Given the description of an element on the screen output the (x, y) to click on. 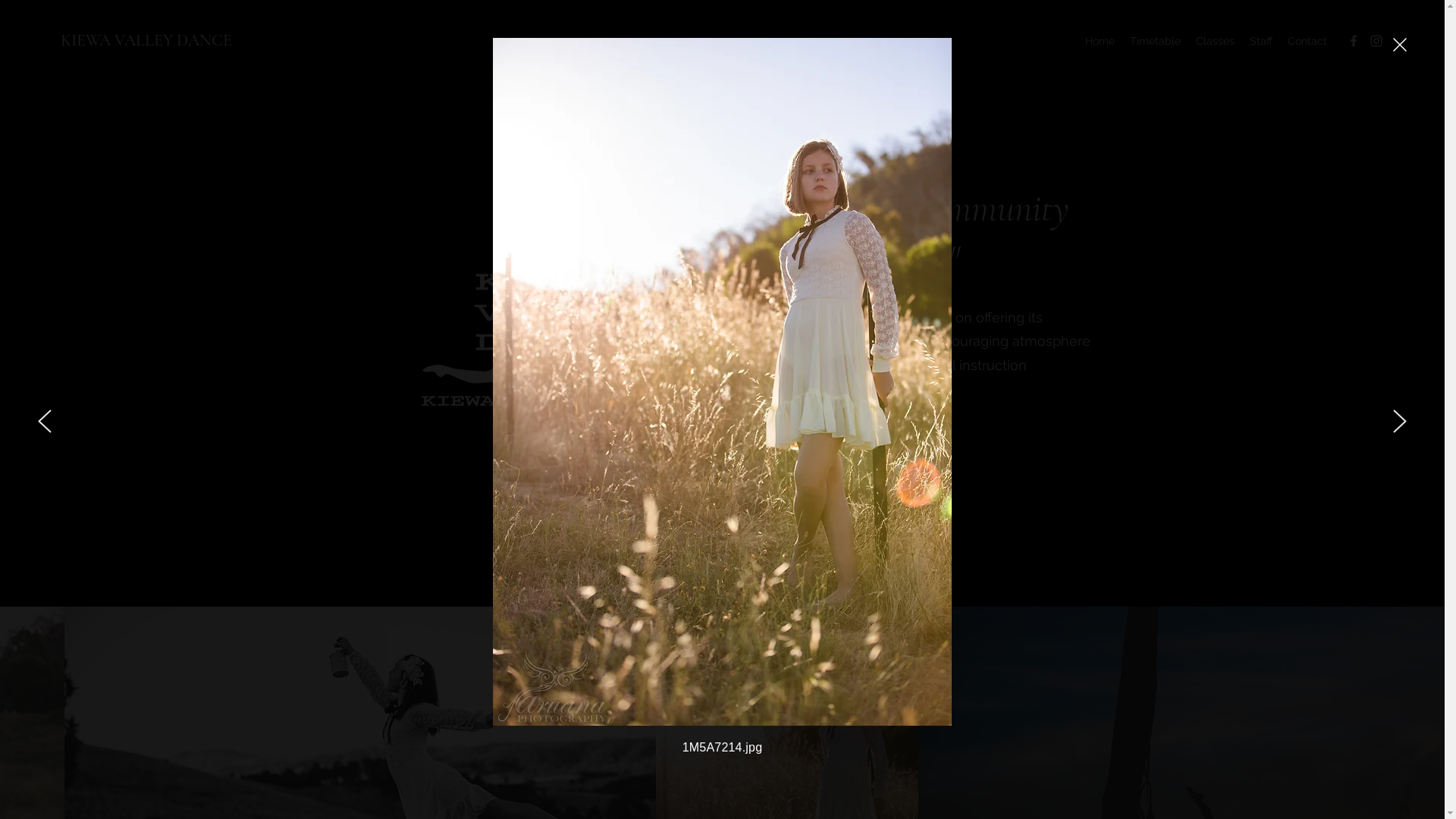
Contact Element type: text (1307, 40)
View Timetable Element type: text (797, 438)
Timetable Element type: text (1155, 40)
Staff Element type: text (1261, 40)
Classes Element type: text (1215, 40)
Home Element type: text (1099, 40)
